Given the description of an element on the screen output the (x, y) to click on. 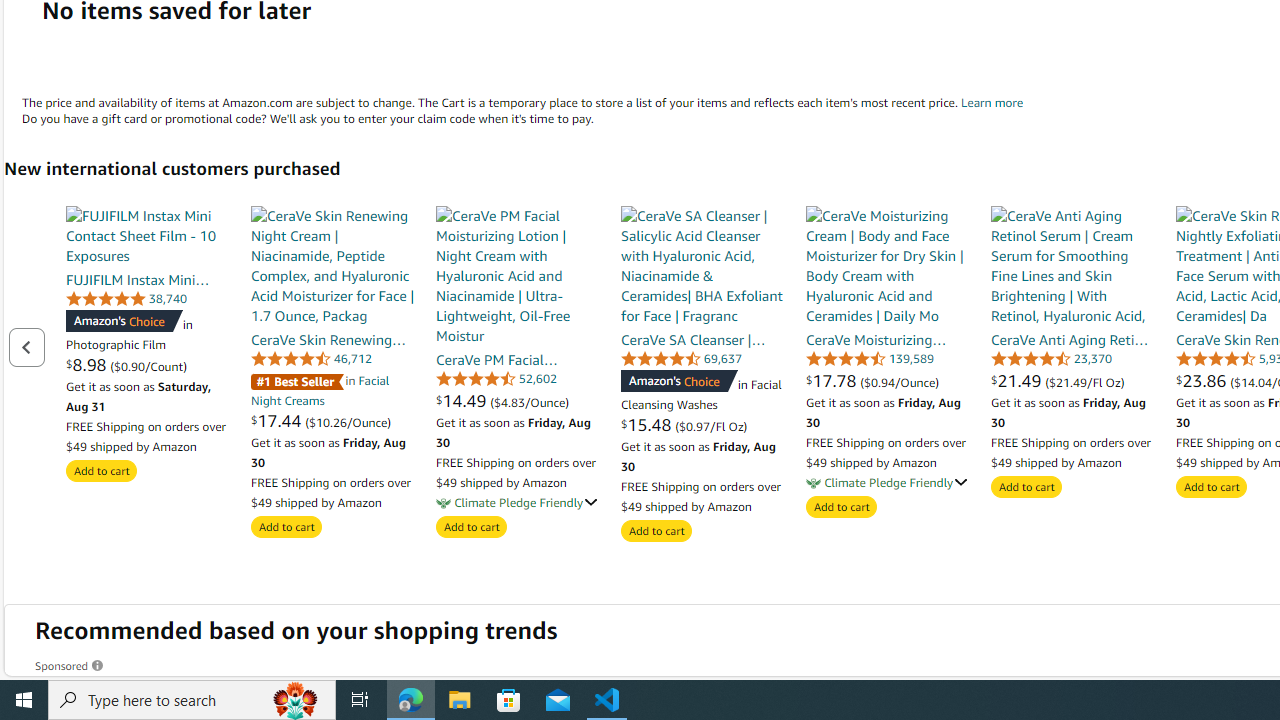
$17.44  (277, 420)
Class: a-link-normal (1072, 339)
$8.98  (88, 363)
Leave feedback on Sponsored ad (70, 665)
FUJIFILM Instax Mini Contact Sheet Film - 10 Exposures (148, 235)
($0.90/Count) (148, 365)
($4.83/Ounce) (529, 401)
Previous page (26, 346)
